Given the description of an element on the screen output the (x, y) to click on. 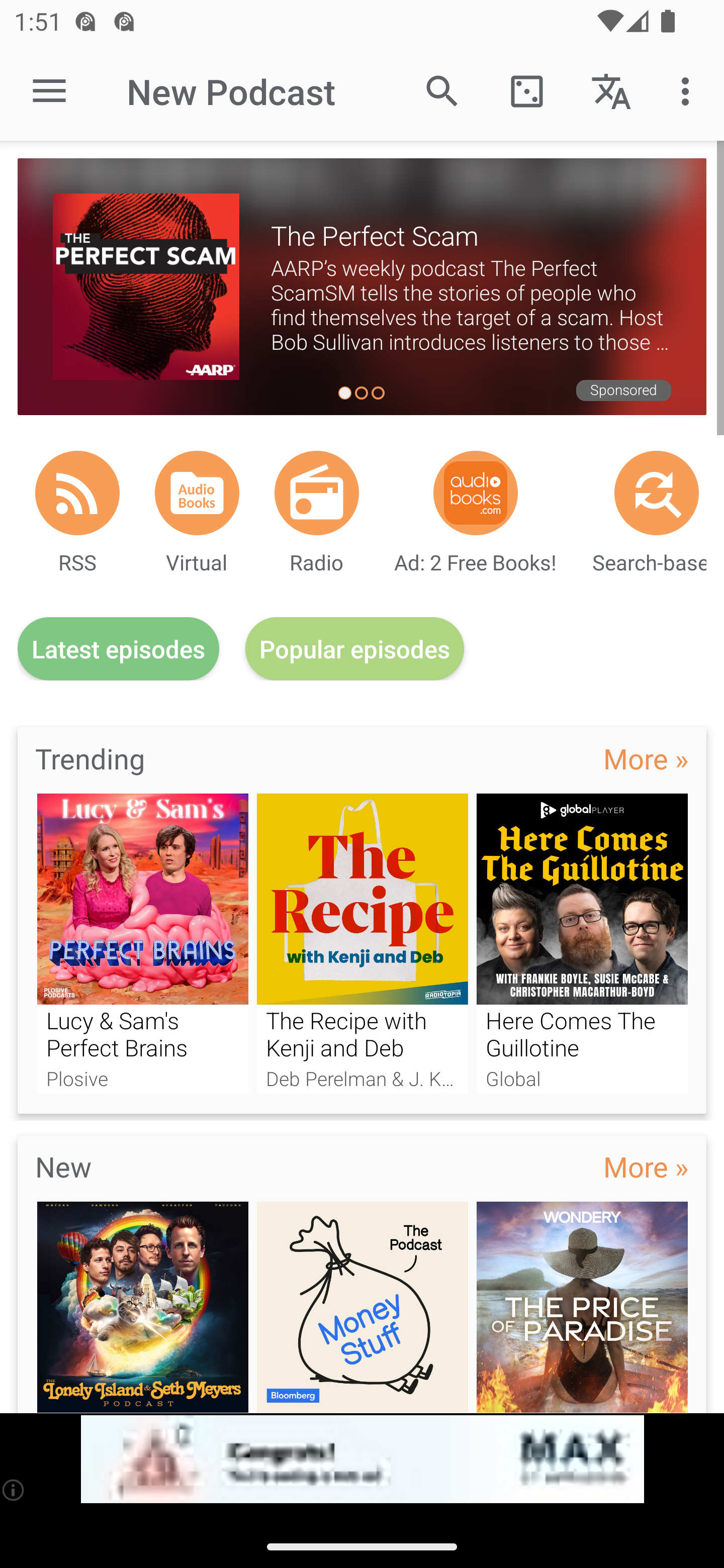
Open navigation sidebar (49, 91)
Search (442, 90)
Random pick (526, 90)
Podcast languages (611, 90)
More options (688, 90)
RSS (77, 492)
Virtual (196, 492)
Radio (316, 492)
Search-based (656, 492)
Latest episodes (118, 648)
Popular episodes (354, 648)
More » (645, 757)
Lucy & Sam's Perfect Brains Plosive (142, 942)
Here Comes The Guillotine Global (581, 942)
More » (645, 1166)
The Lonely Island and Seth Meyers Podcast (142, 1306)
Money Stuff: The Podcast (362, 1306)
The Price of Paradise (581, 1306)
app-monetization (362, 1459)
(i) (14, 1489)
